Given the description of an element on the screen output the (x, y) to click on. 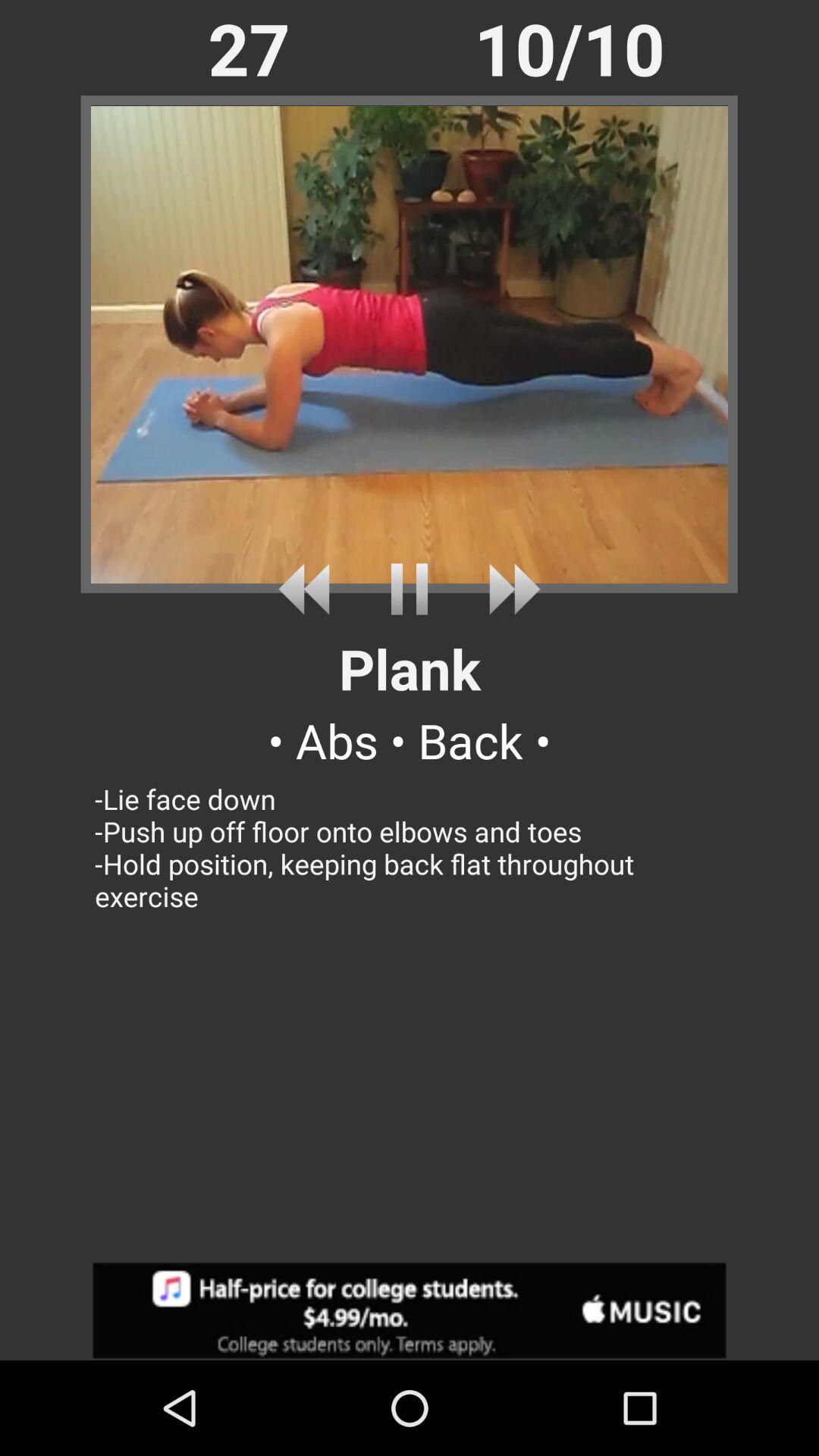
view advertisements (409, 1310)
